Given the description of an element on the screen output the (x, y) to click on. 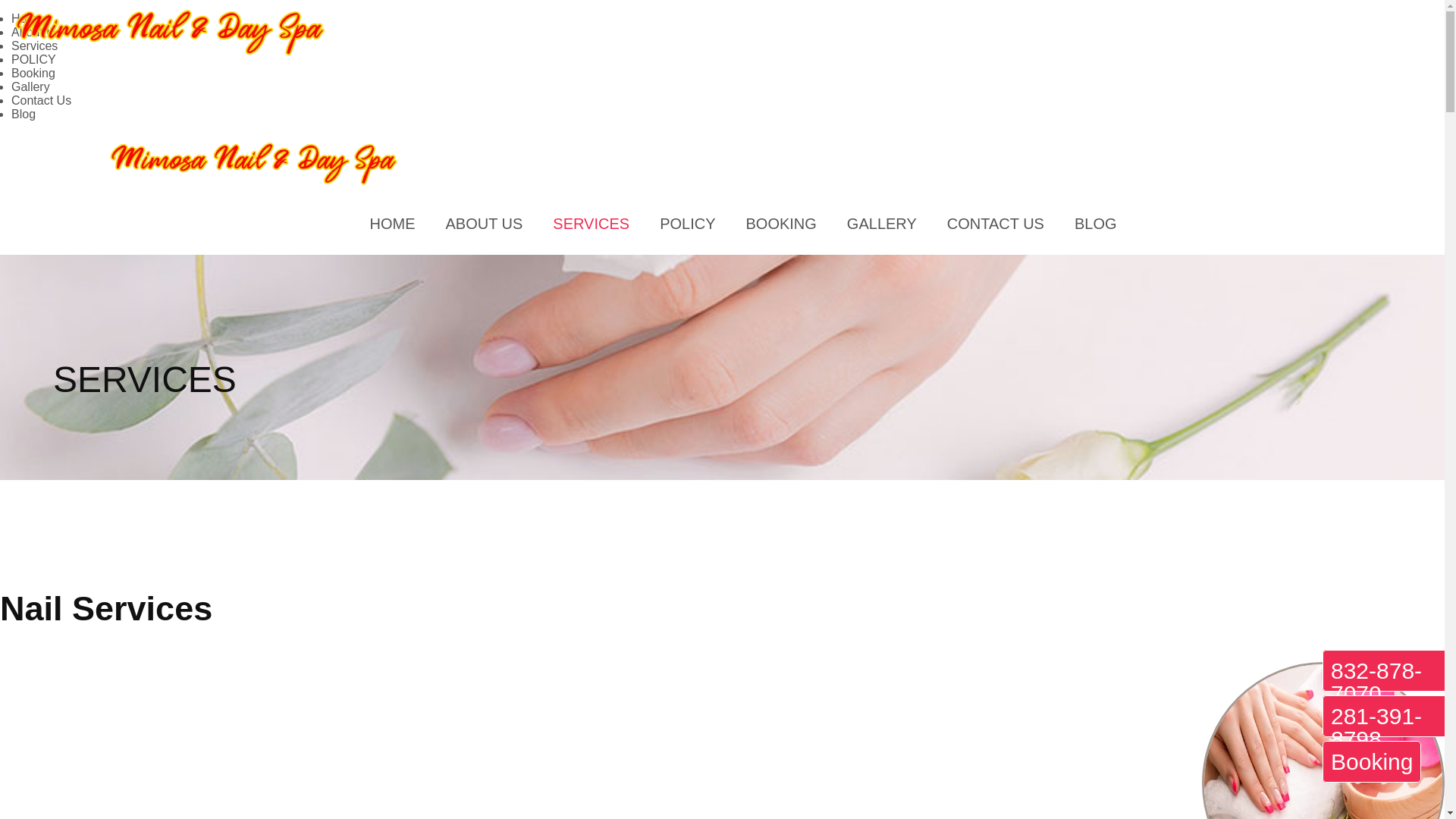
Services (34, 45)
Contact Us (41, 100)
Booking (780, 223)
POLICY (33, 59)
CONTACT US (995, 223)
News (22, 113)
Booking (33, 72)
POLICY (686, 223)
POLICY (686, 223)
Blog (22, 113)
